Given the description of an element on the screen output the (x, y) to click on. 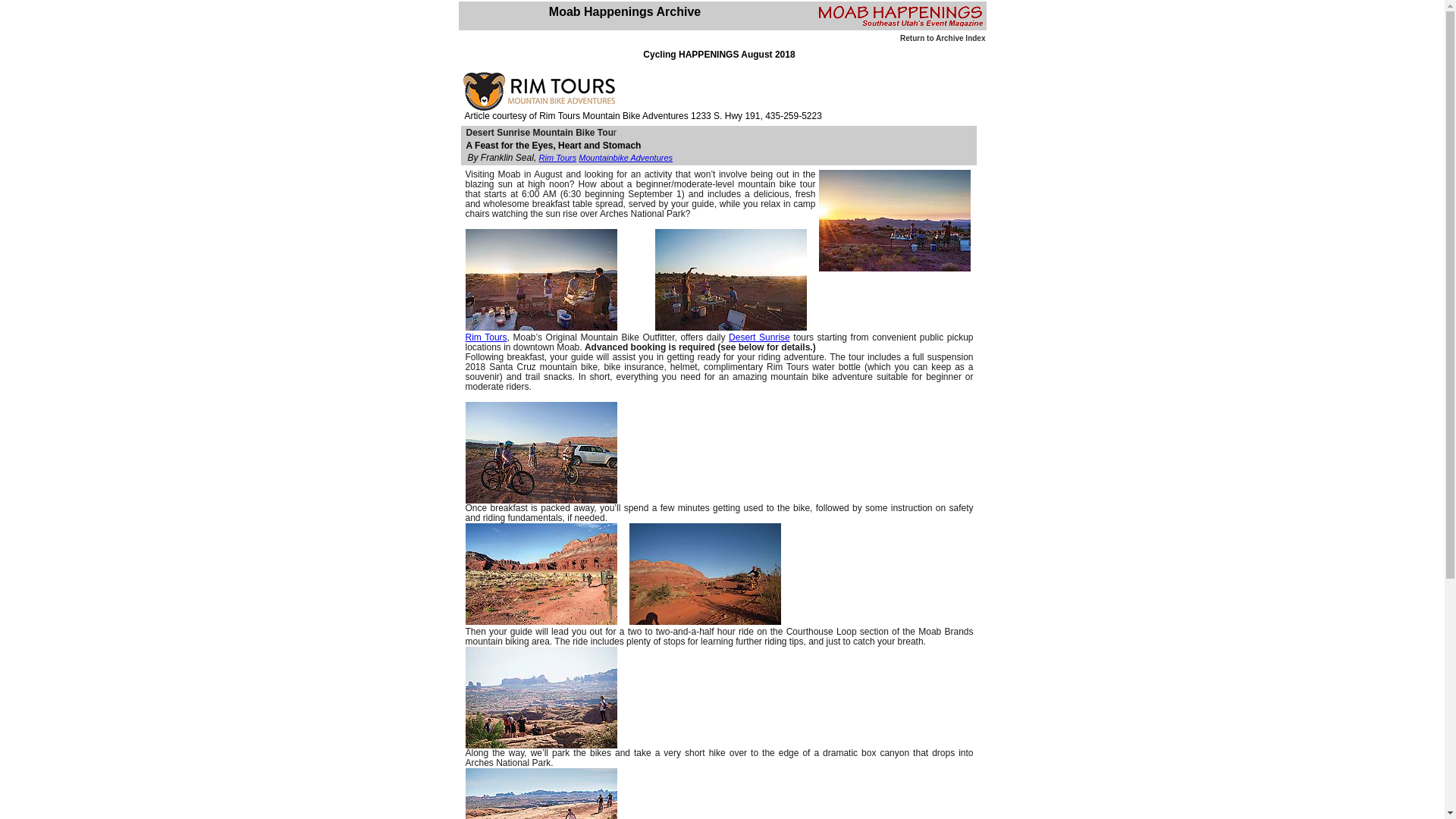
Rim Tours (485, 337)
Desert Sunrise (759, 337)
Mountainbike Adventures (625, 157)
Return to Archive Index (942, 38)
Rim Tours (557, 157)
